Given the description of an element on the screen output the (x, y) to click on. 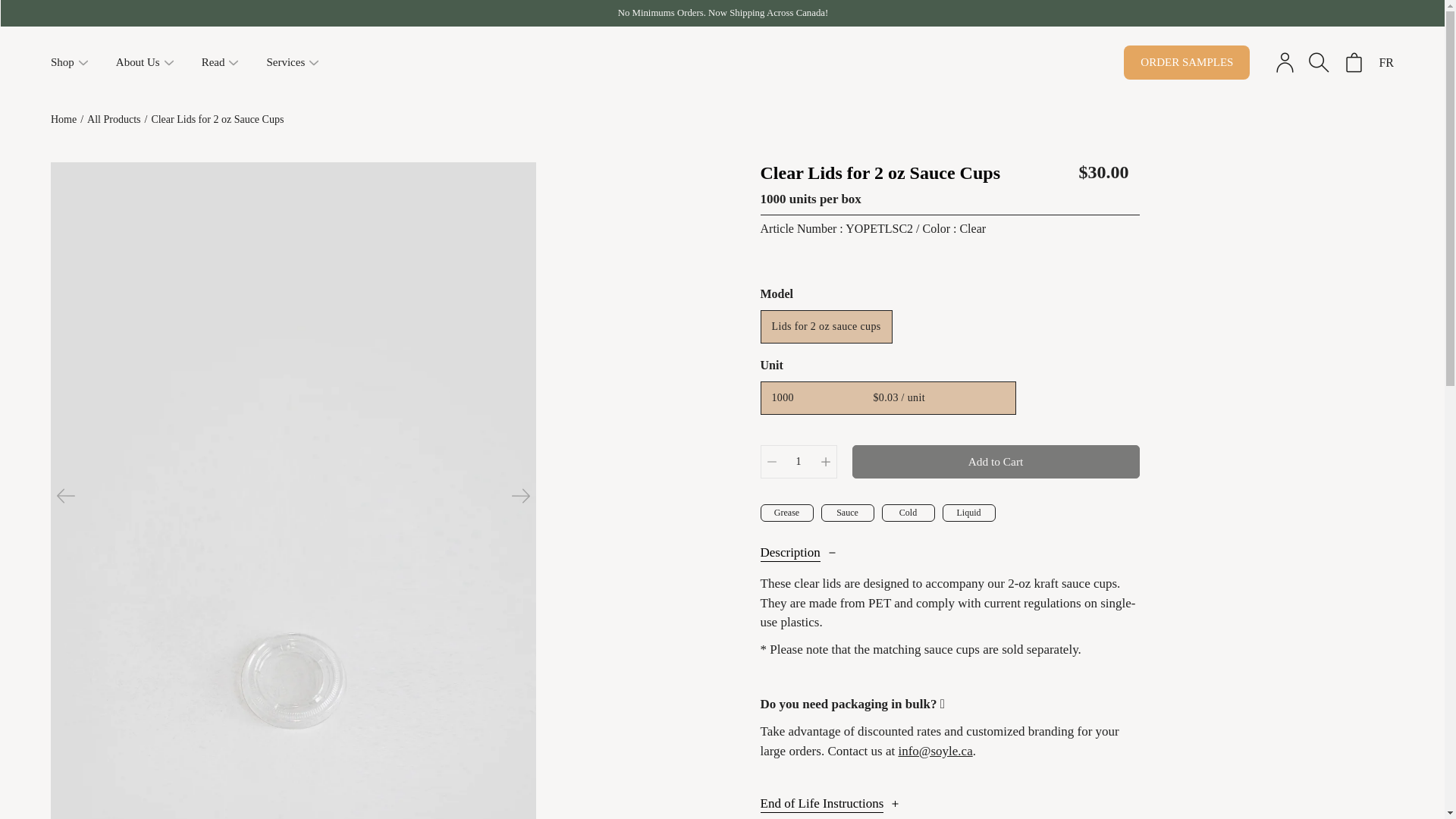
FR (1385, 62)
Read (213, 62)
Back to the Homepage (63, 119)
Services (285, 62)
1 (797, 461)
ORDER SAMPLES (1186, 62)
Search (1319, 62)
Shop (62, 62)
About Us (138, 62)
